Given the description of an element on the screen output the (x, y) to click on. 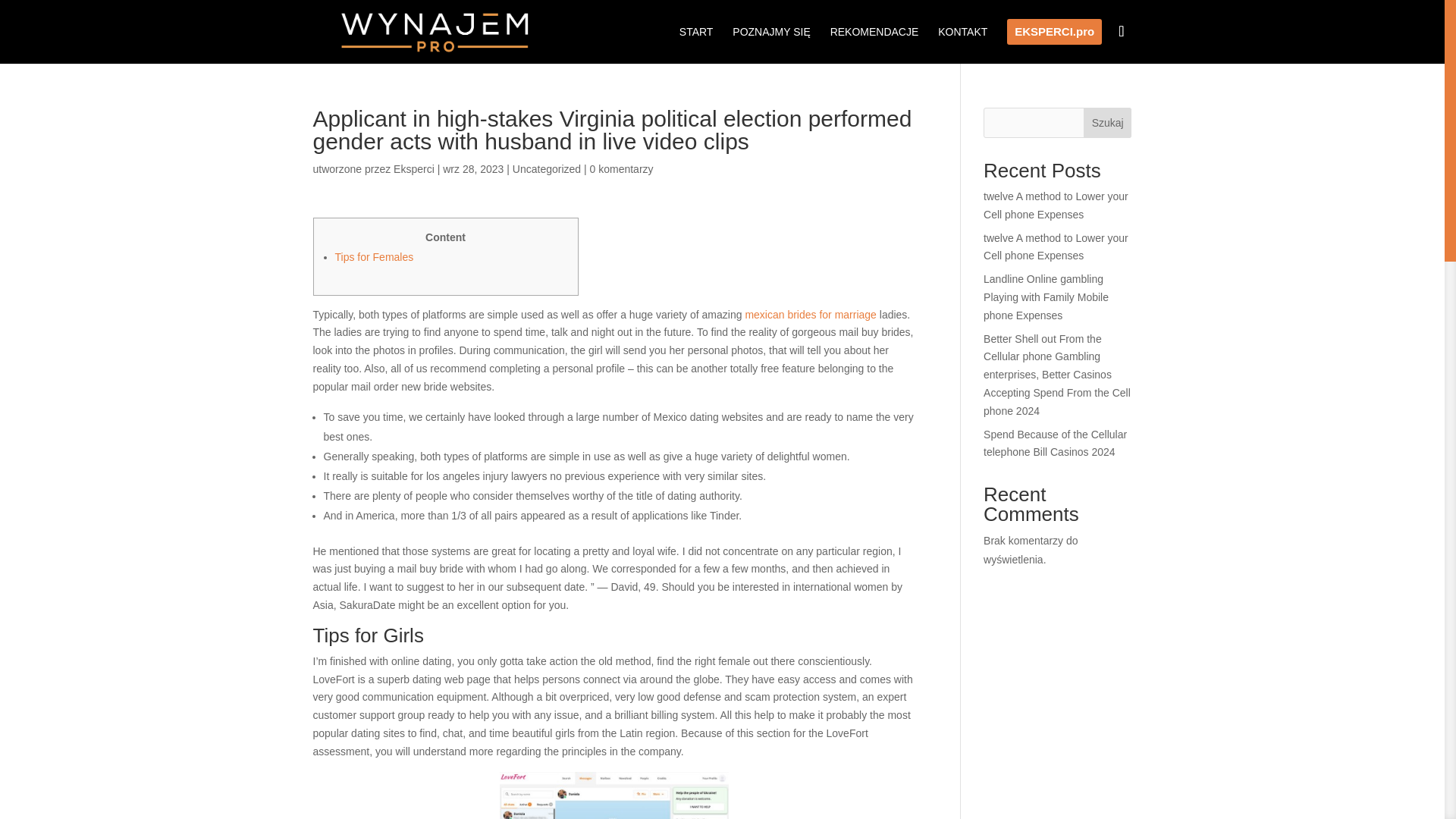
Wpisy Eksperci (413, 168)
START (696, 44)
Eksperci (413, 168)
Szukaj (1107, 122)
EKSPERCI.pro (1054, 40)
Spend Because of the Cellular telephone Bill Casinos 2024 (1055, 443)
mexican brides for marriage (810, 314)
twelve A method to Lower your Cell phone Expenses (1056, 205)
Tips for Females (373, 256)
twelve A method to Lower your Cell phone Expenses (1056, 246)
0 komentarzy (621, 168)
REKOMENDACJE (873, 44)
KONTAKT (962, 44)
